Given the description of an element on the screen output the (x, y) to click on. 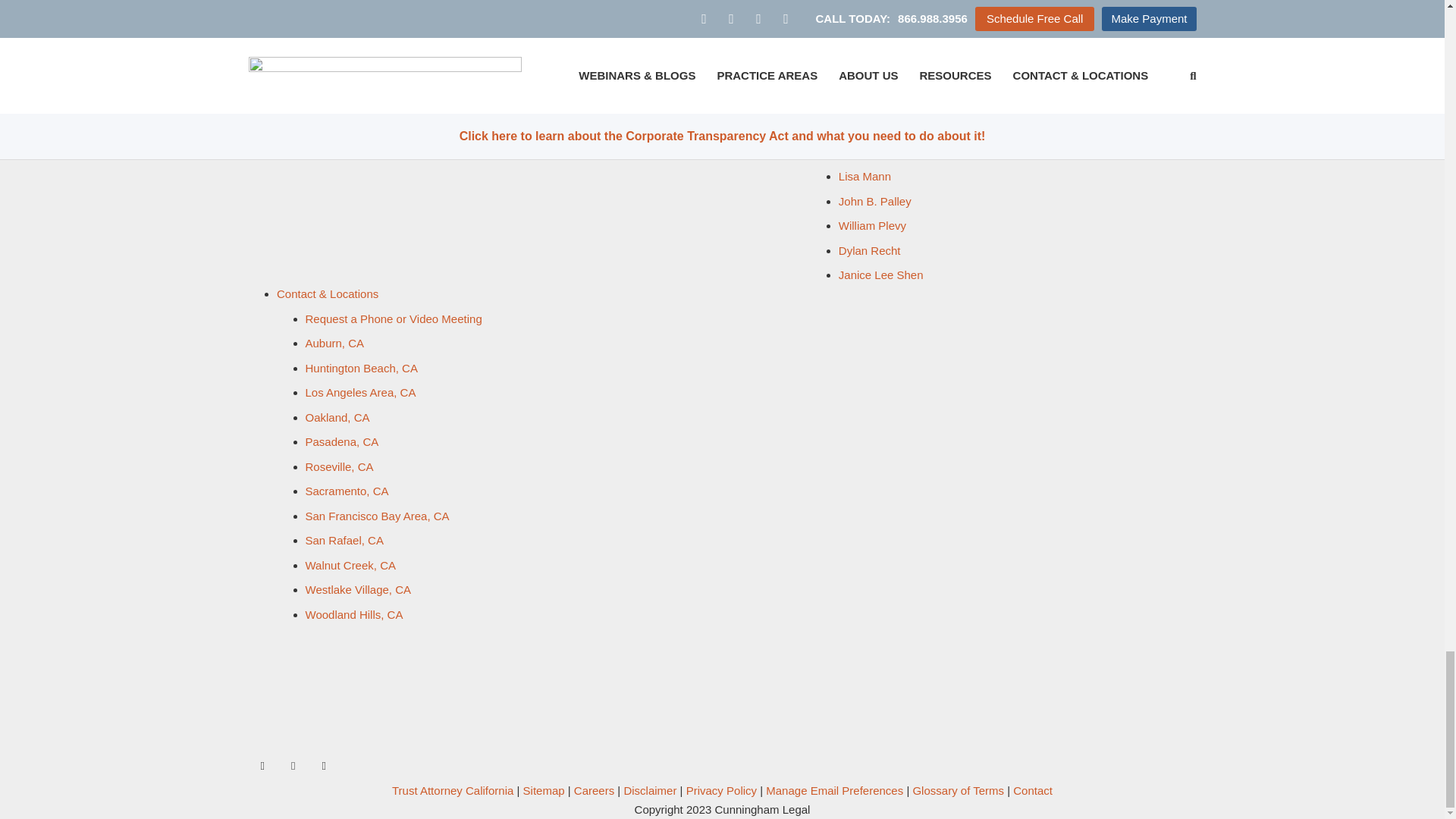
Twitter (293, 766)
LinkedIn (322, 766)
Facebook (263, 766)
